Given the description of an element on the screen output the (x, y) to click on. 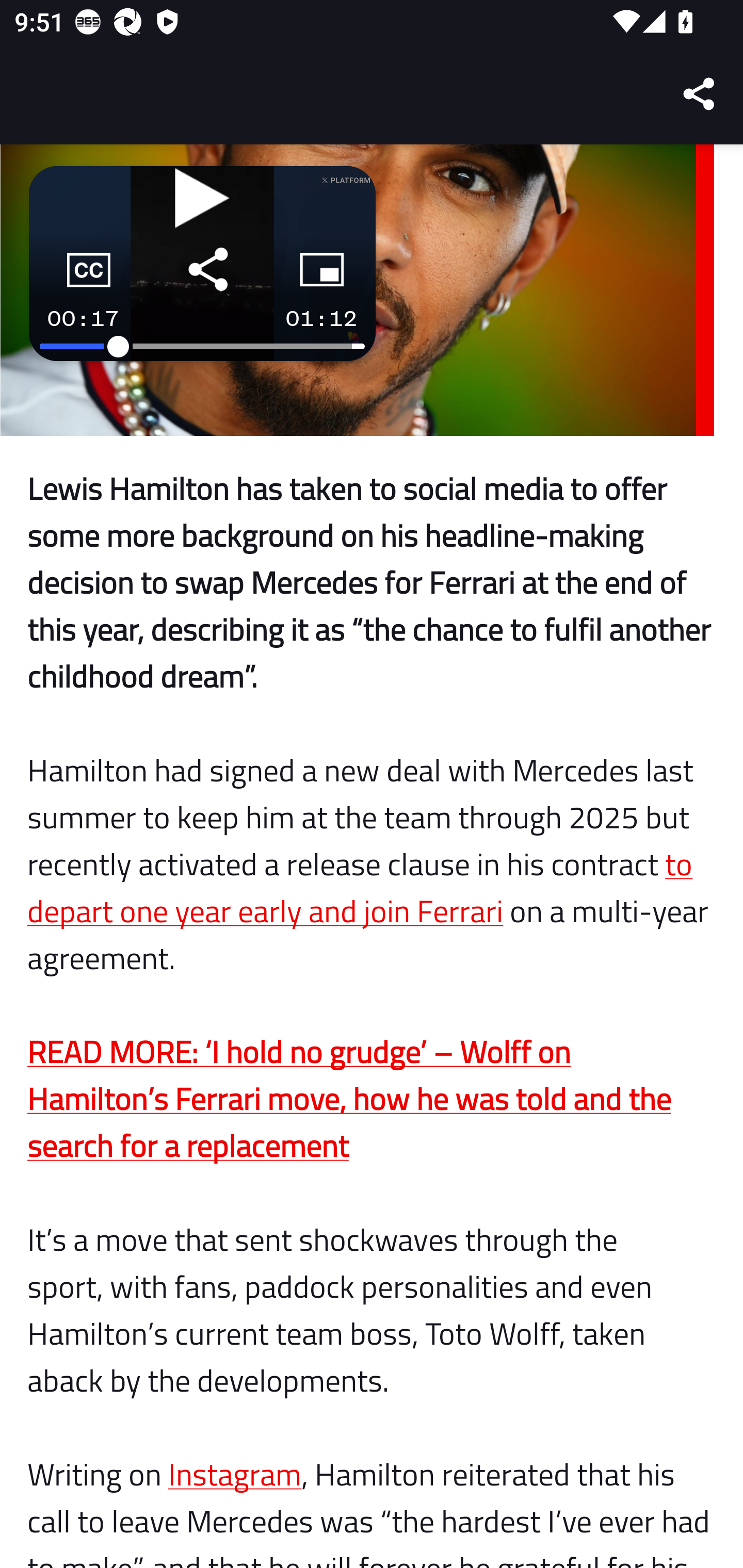
Share (699, 93)
